Given the description of an element on the screen output the (x, y) to click on. 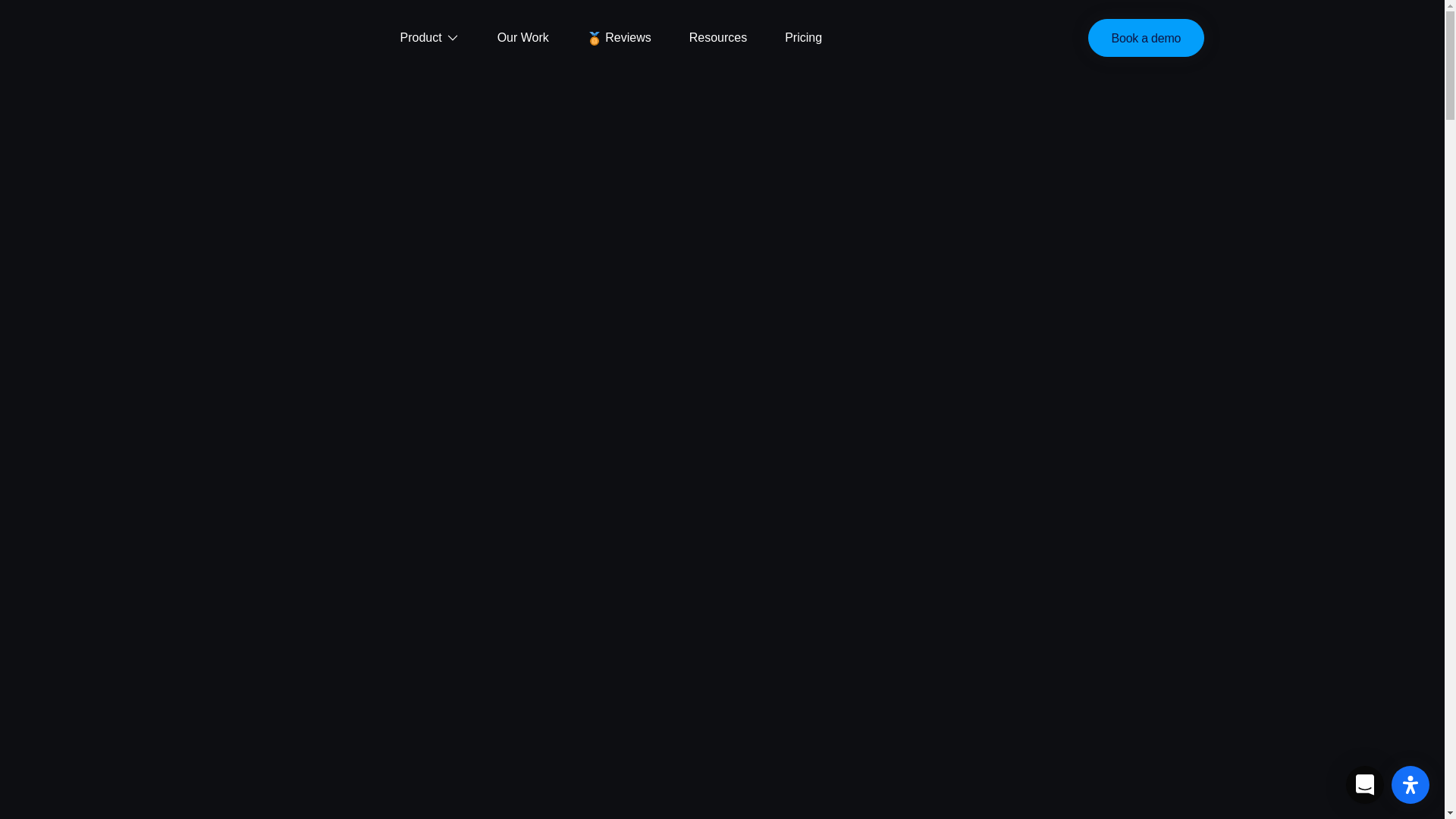
Reviews Element type: text (618, 37)
Our Work Element type: text (523, 37)
Book a demo Element type: text (1146, 37)
Product Element type: text (421, 37)
Resources Element type: text (717, 37)
Pricing Element type: text (803, 37)
